Given the description of an element on the screen output the (x, y) to click on. 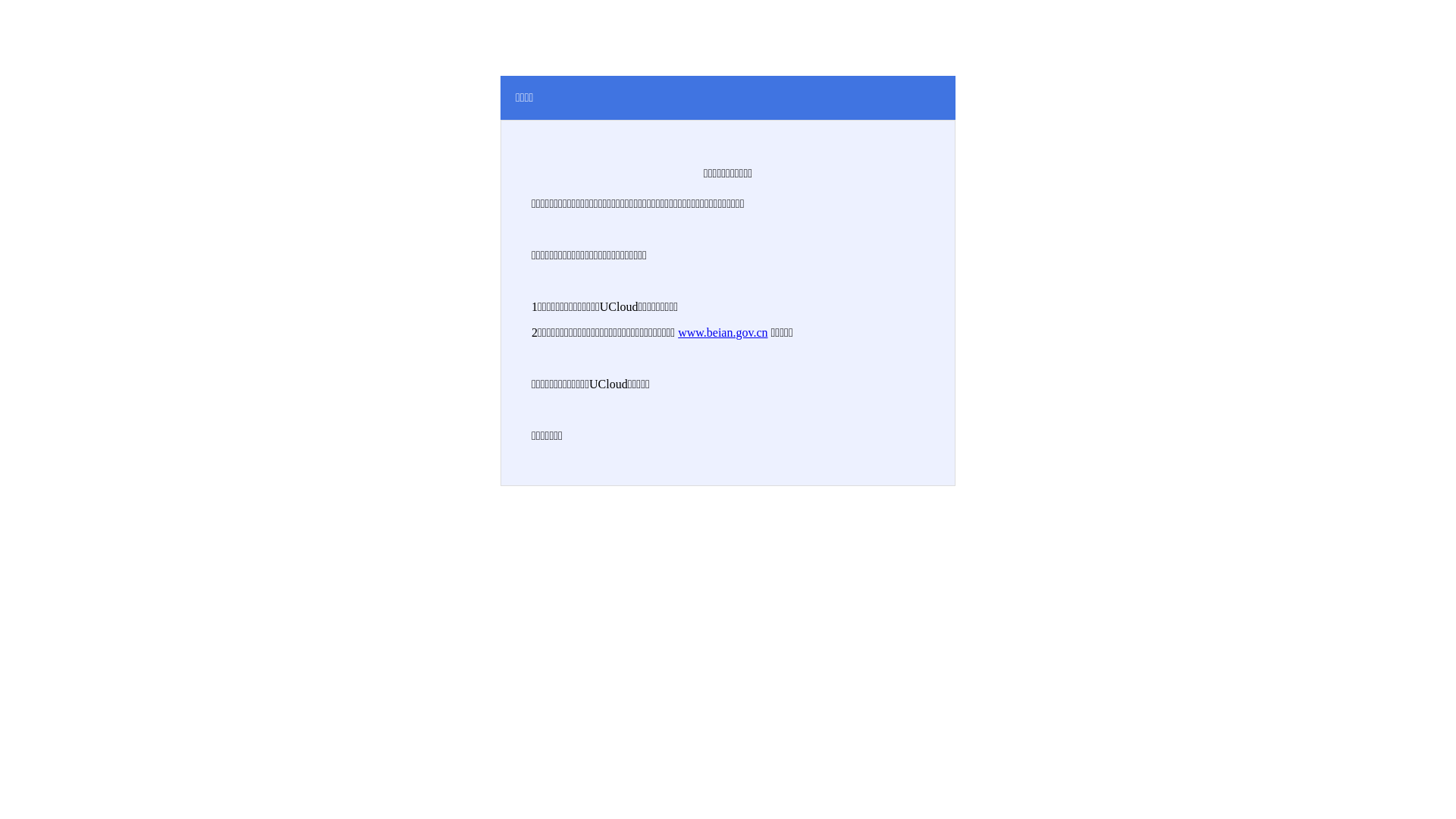
www.beian.gov.cn Element type: text (722, 332)
